Given the description of an element on the screen output the (x, y) to click on. 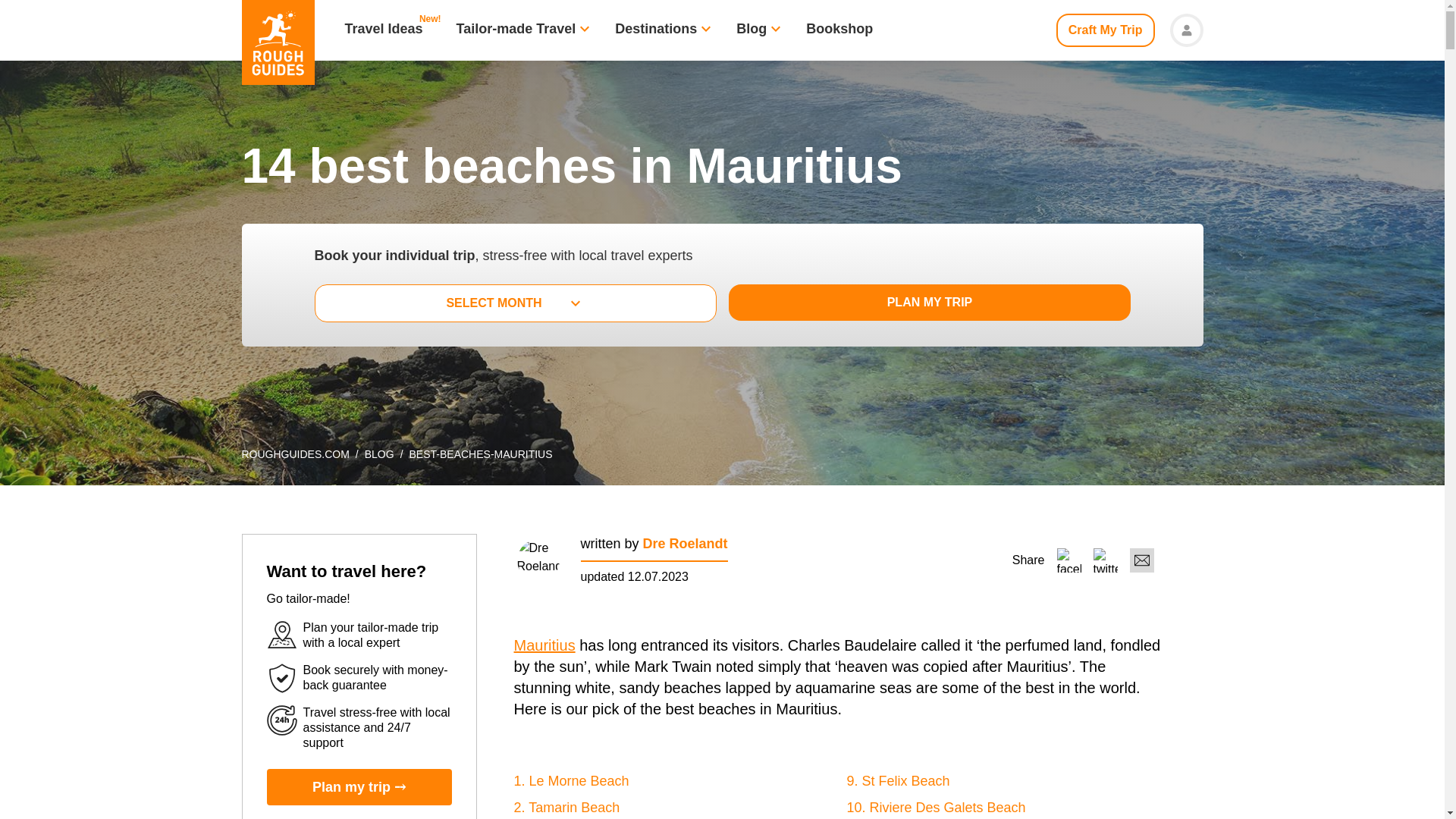
Mauritius (544, 645)
Craft My Trip (1105, 29)
Dre Roelandt (685, 543)
1. Le Morne Beach (570, 780)
Destinations (655, 29)
BLOG (379, 454)
Blog (751, 29)
10. Riviere Des Galets Beach (935, 807)
Travel Ideas (382, 29)
Bookshop (839, 29)
Tailor-made Travel (516, 29)
PLAN MY TRIP (924, 301)
9. St Felix Beach (897, 780)
2. Tamarin Beach (566, 807)
ROUGHGUIDES.COM (295, 454)
